Given the description of an element on the screen output the (x, y) to click on. 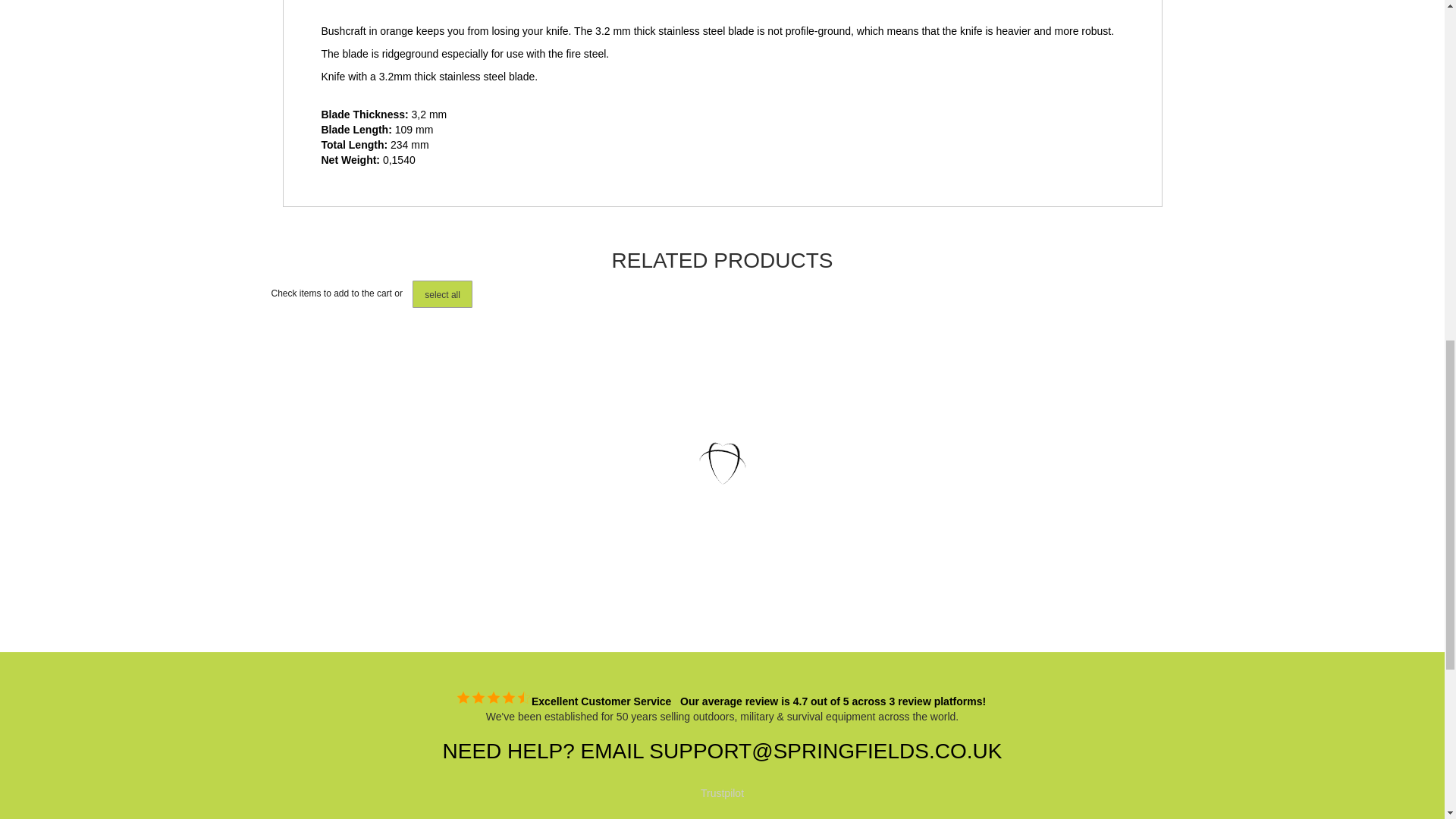
Mora Precision Knife Stainless (899, 506)
Mora Heavy Duty Companion Carbon Knife (546, 506)
92867 (700, 569)
68232 (520, 569)
Mora Companion Heavy Duty Stainless - Burnt Orange (364, 513)
95798 (339, 583)
92888 (872, 569)
Mora Rope Knife - Stainless Steel Serrated (726, 506)
